Given the description of an element on the screen output the (x, y) to click on. 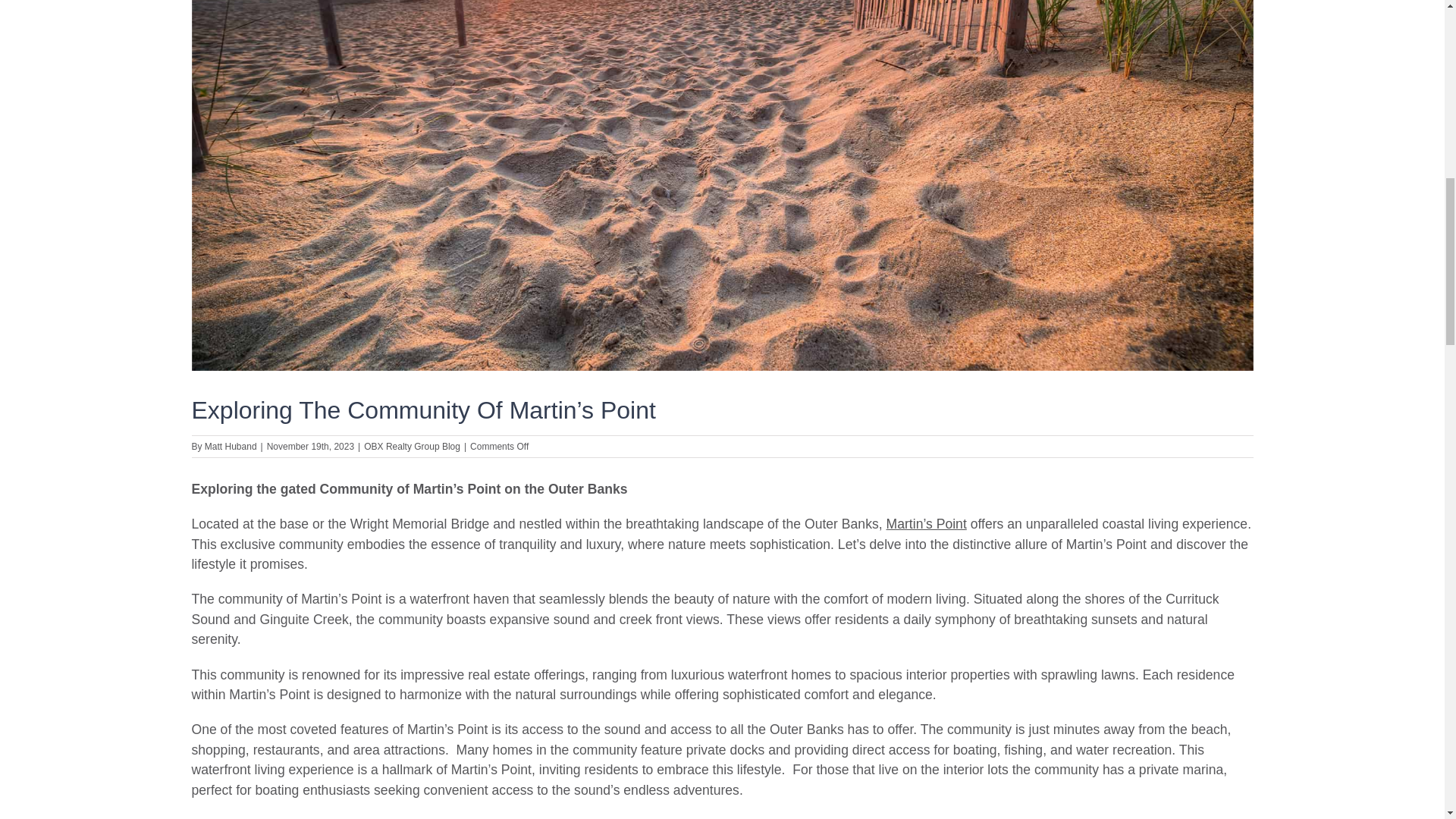
Posts by Matt Huband (231, 446)
